Given the description of an element on the screen output the (x, y) to click on. 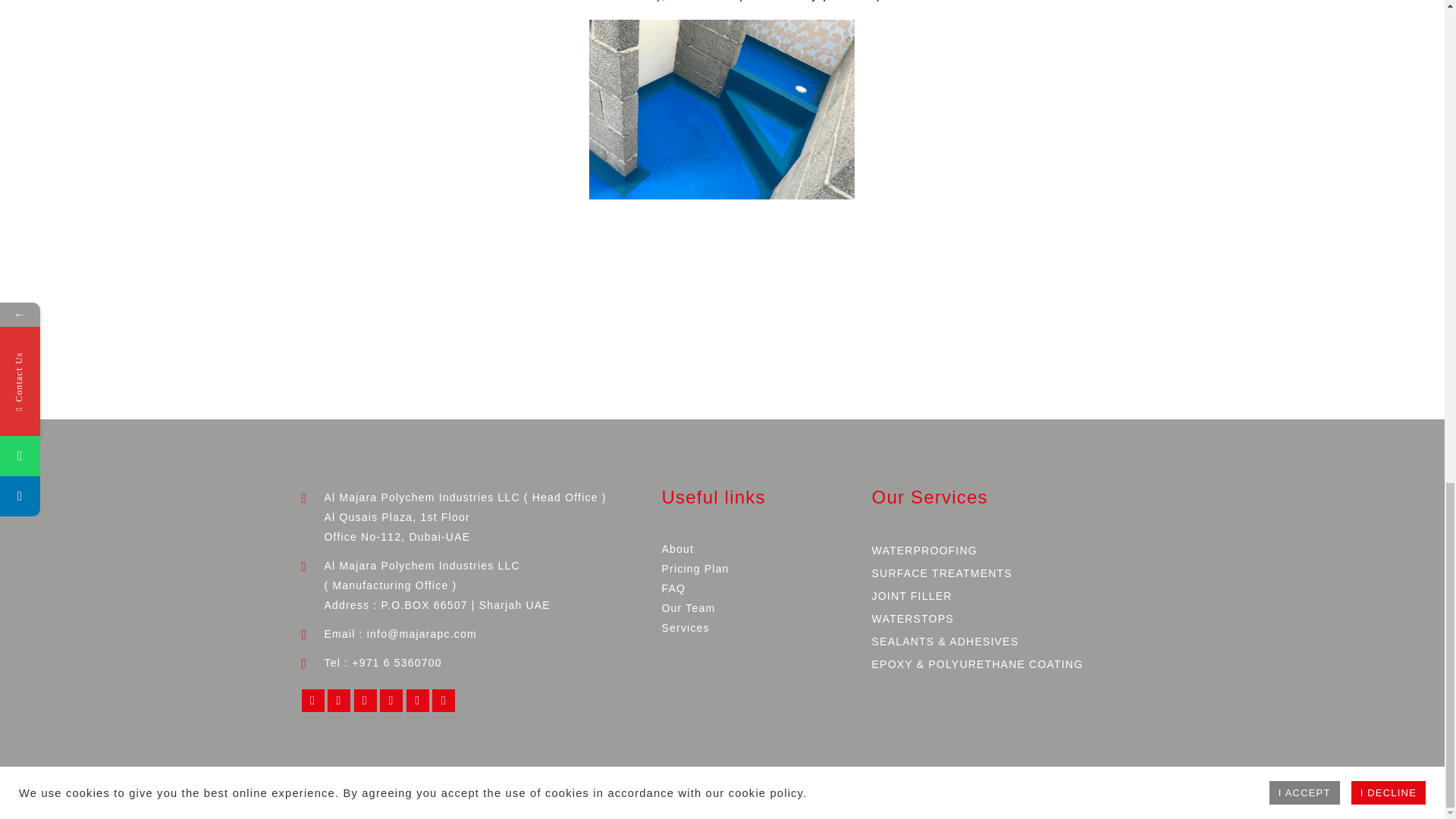
Email (421, 633)
Tel (396, 662)
